Given the description of an element on the screen output the (x, y) to click on. 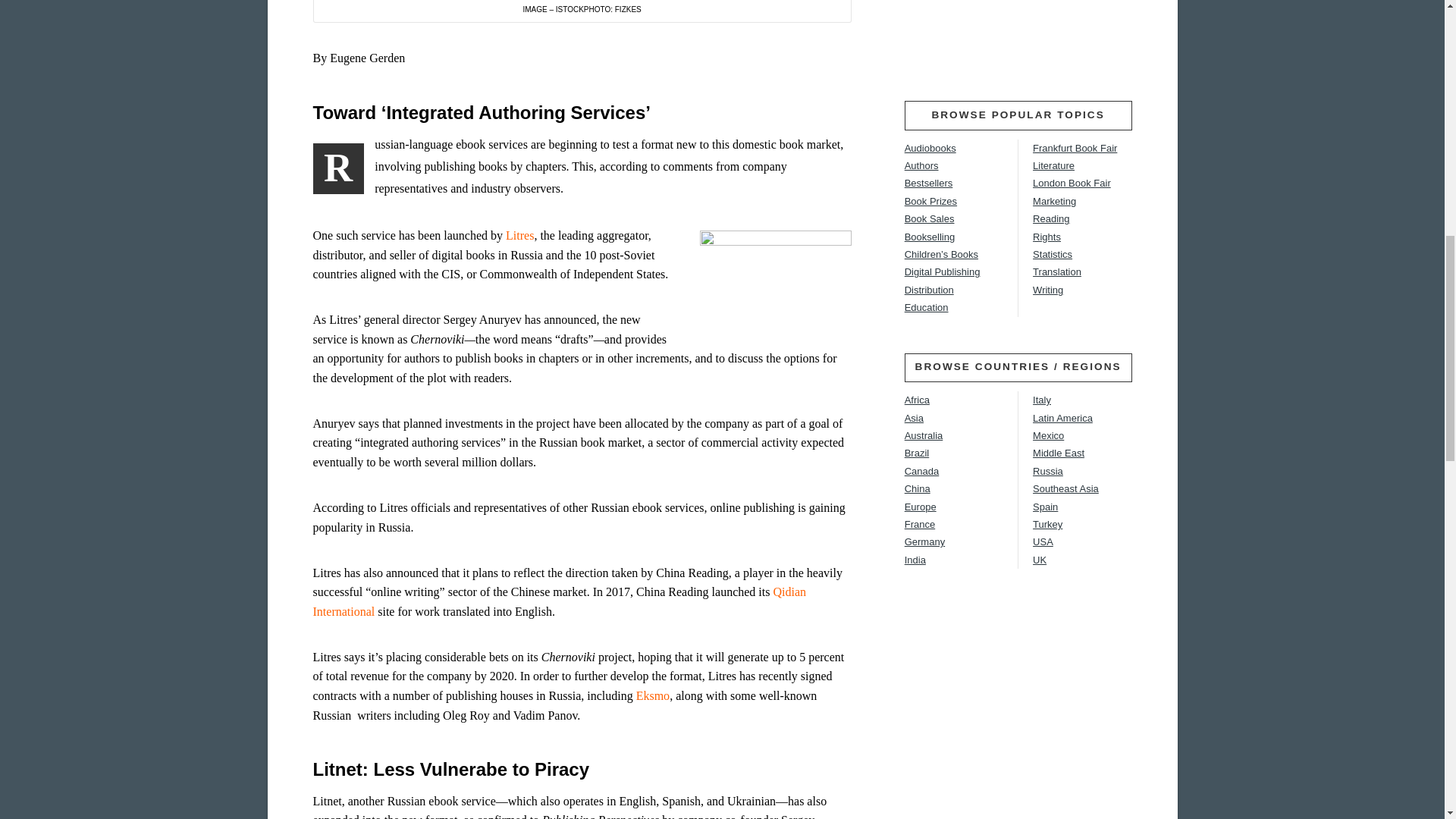
Eksmo (652, 695)
Litres (519, 235)
Qidian International (559, 601)
